Given the description of an element on the screen output the (x, y) to click on. 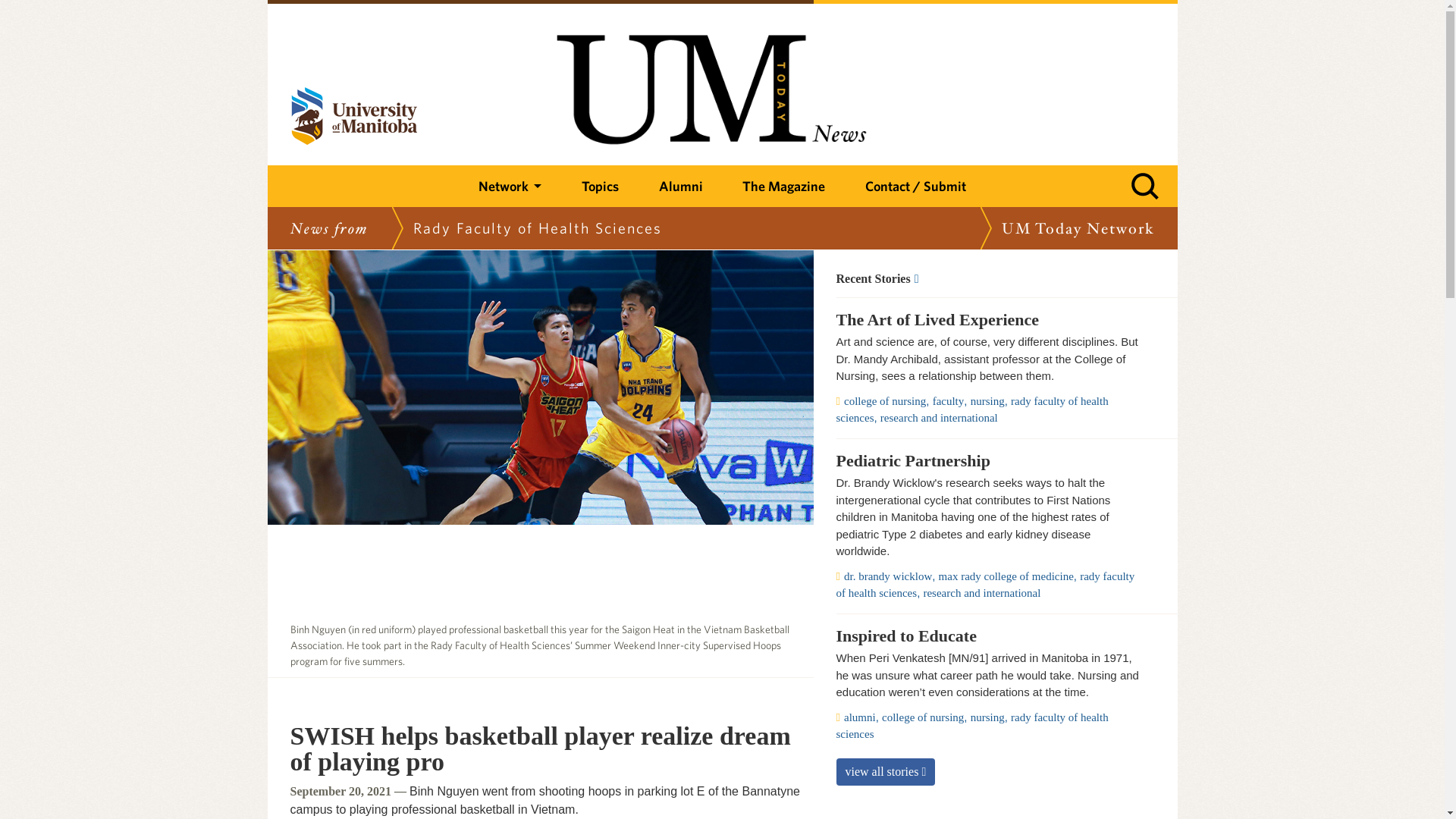
News Archives (986, 278)
Network (510, 186)
The Art of Lived Experience (986, 319)
Inspired to Educate (986, 636)
Pediatric Partnership (986, 460)
